Given the description of an element on the screen output the (x, y) to click on. 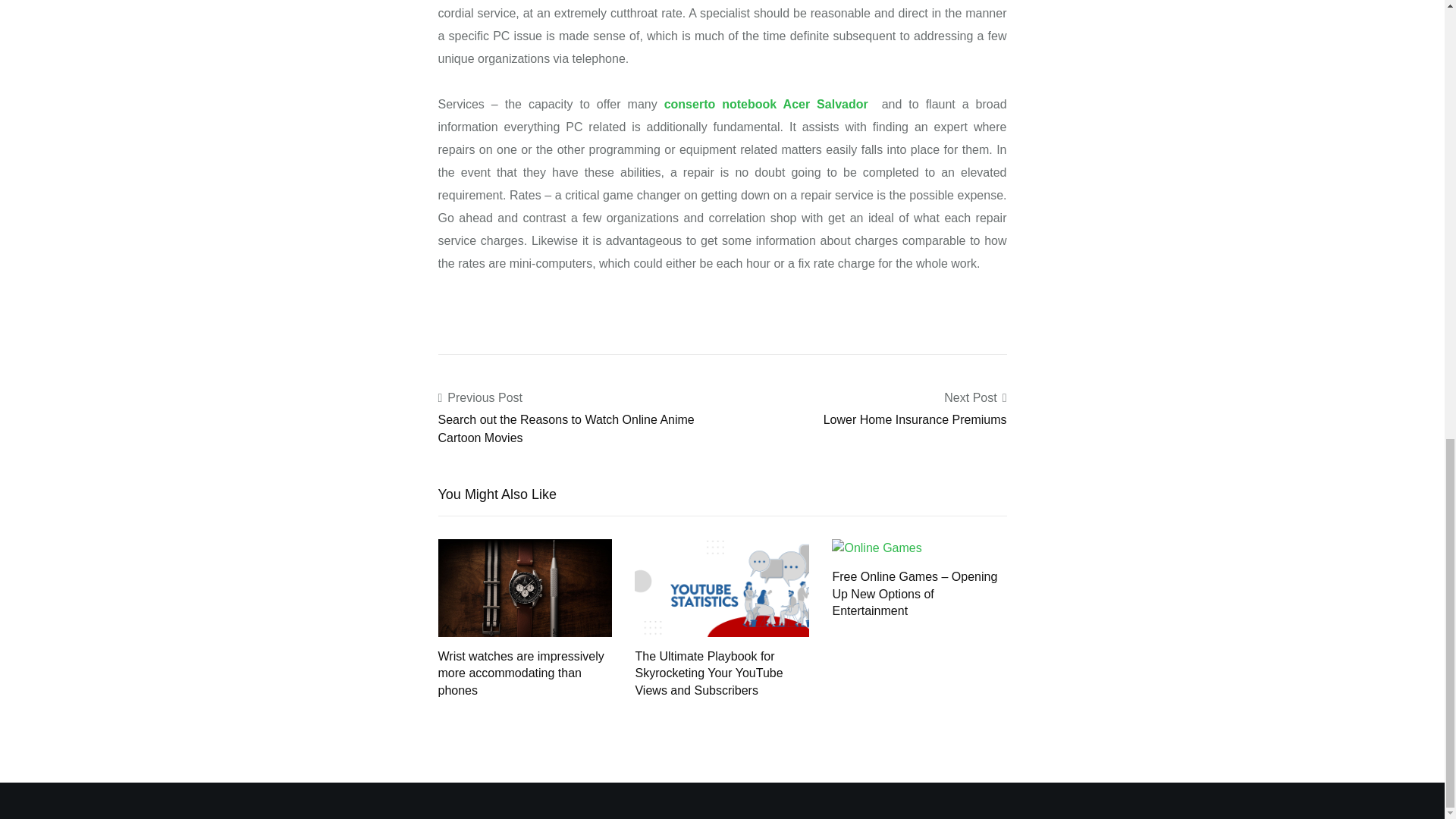
Lower Home Insurance Premiums (915, 419)
Search out the Reasons to Watch Online Anime Cartoon Movies (566, 428)
conserto notebook Acer Salvador (765, 103)
